Given the description of an element on the screen output the (x, y) to click on. 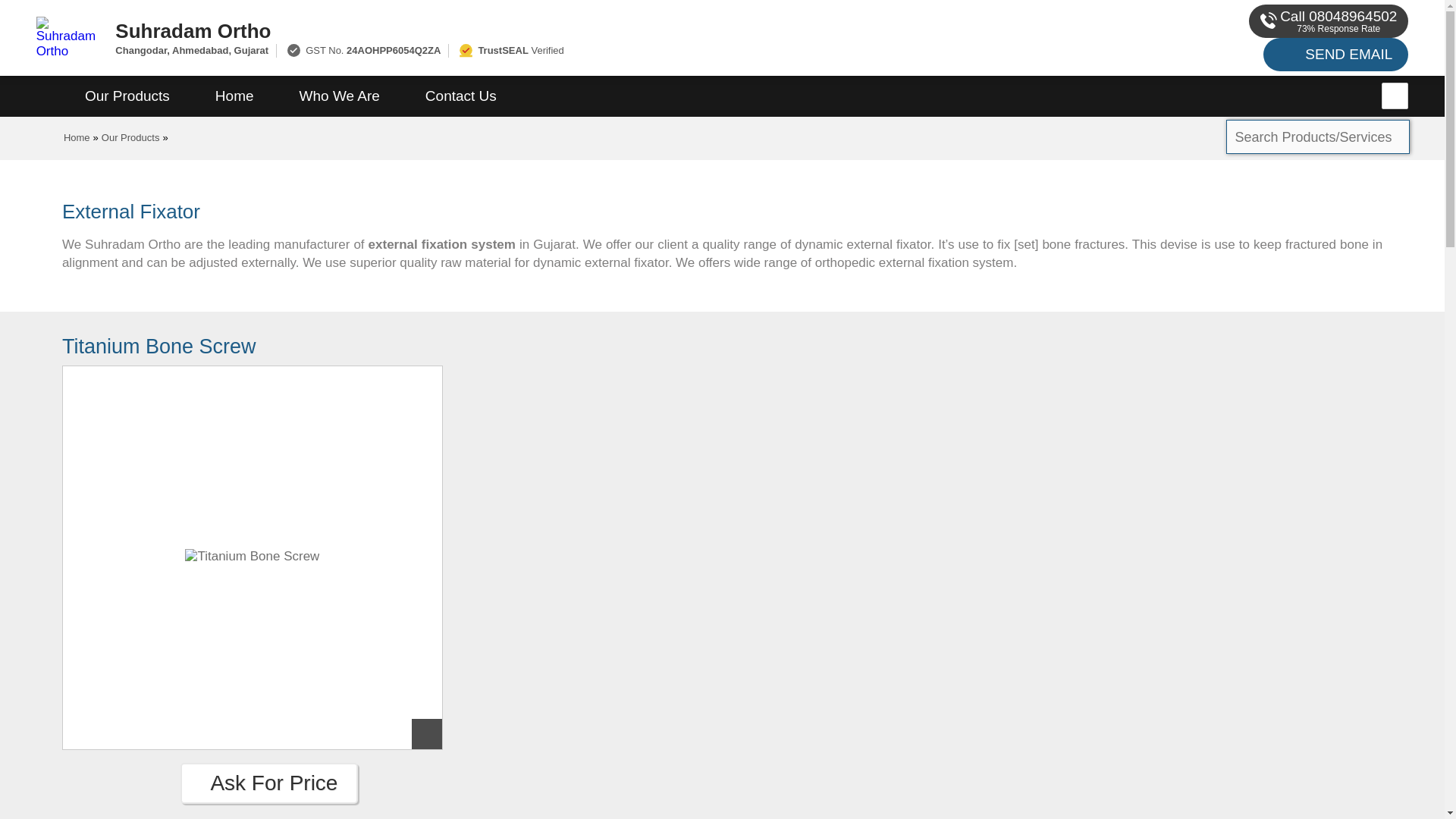
Contact Us (461, 96)
Our Products (130, 137)
Suhradam Ortho (552, 31)
Home (234, 96)
Our Products (127, 96)
Who We Are (339, 96)
Home (77, 137)
